Given the description of an element on the screen output the (x, y) to click on. 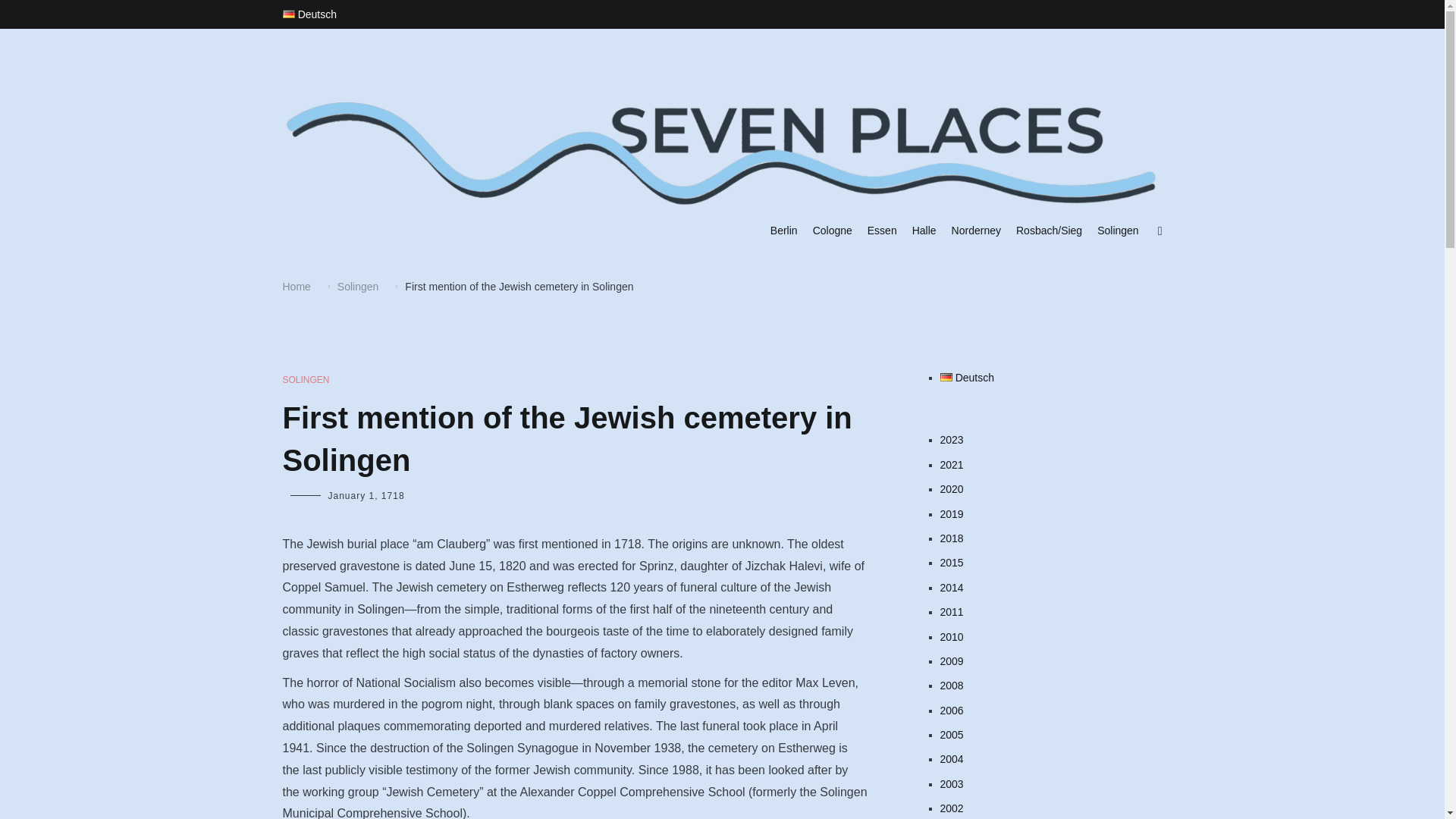
2021 (1050, 464)
Solingen (357, 286)
Norderney (976, 230)
2009 (1050, 660)
2019 (1050, 514)
Cologne (831, 230)
2018 (1050, 538)
January 1, 1718 (365, 495)
Solingen (1117, 230)
Home (296, 286)
